Given the description of an element on the screen output the (x, y) to click on. 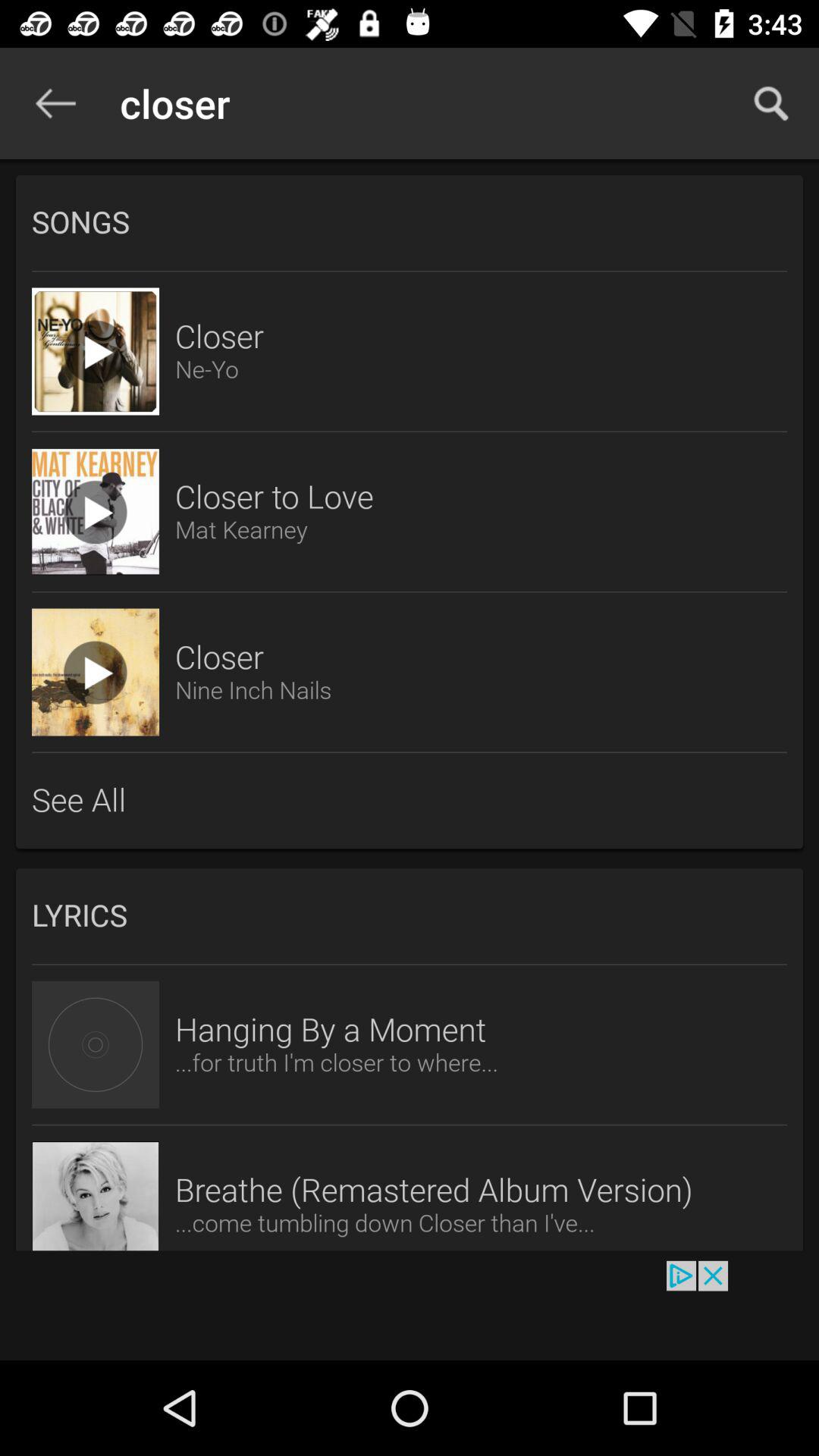
open the see all (409, 800)
